Given the description of an element on the screen output the (x, y) to click on. 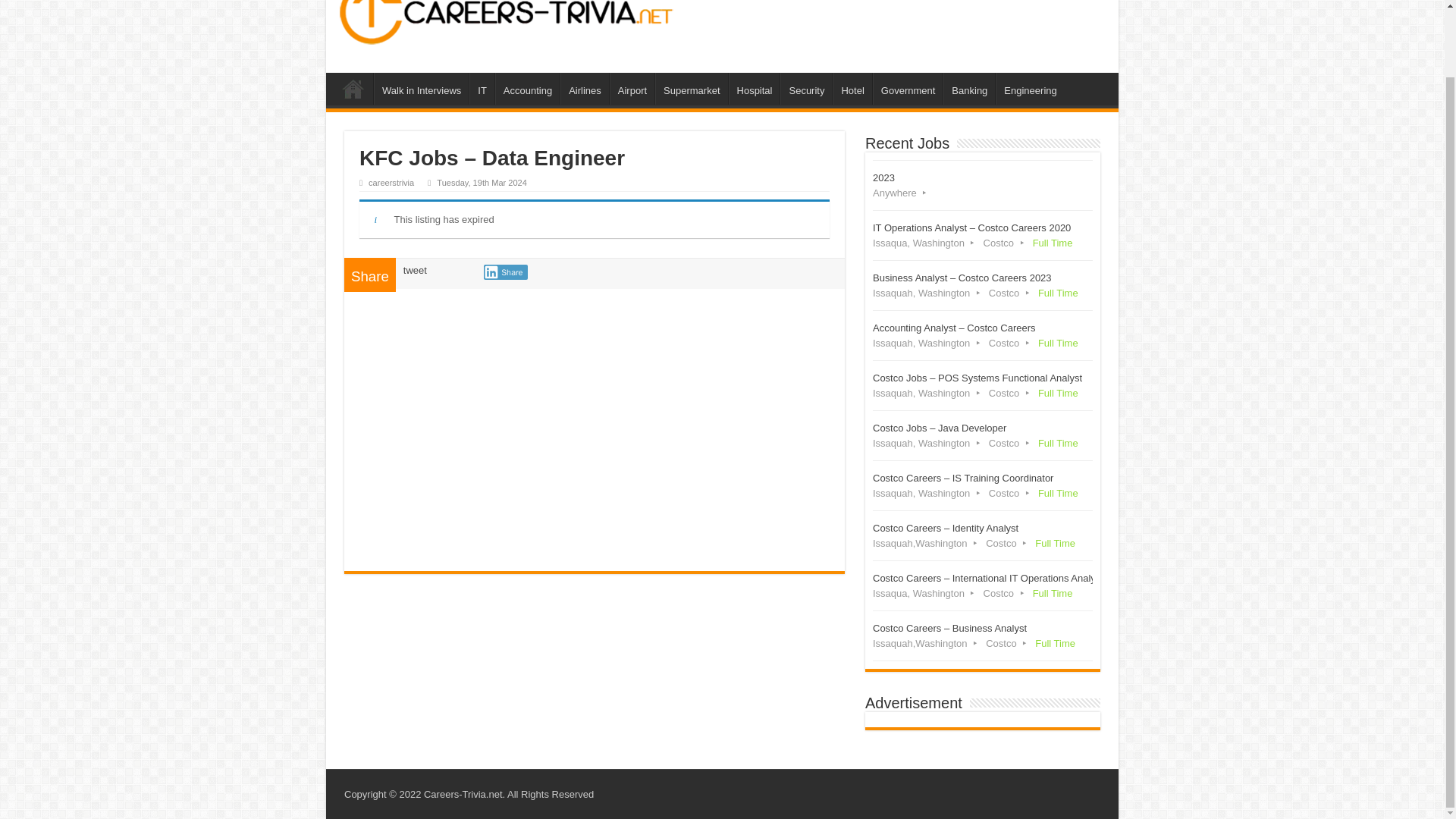
Home (352, 88)
Hotel (851, 88)
Airport (631, 88)
tweet (414, 270)
Walk in Interviews (421, 88)
Supermarket (690, 88)
Accounting (527, 88)
Government (907, 88)
careerstrivia (390, 182)
Hospital (754, 88)
